Given the description of an element on the screen output the (x, y) to click on. 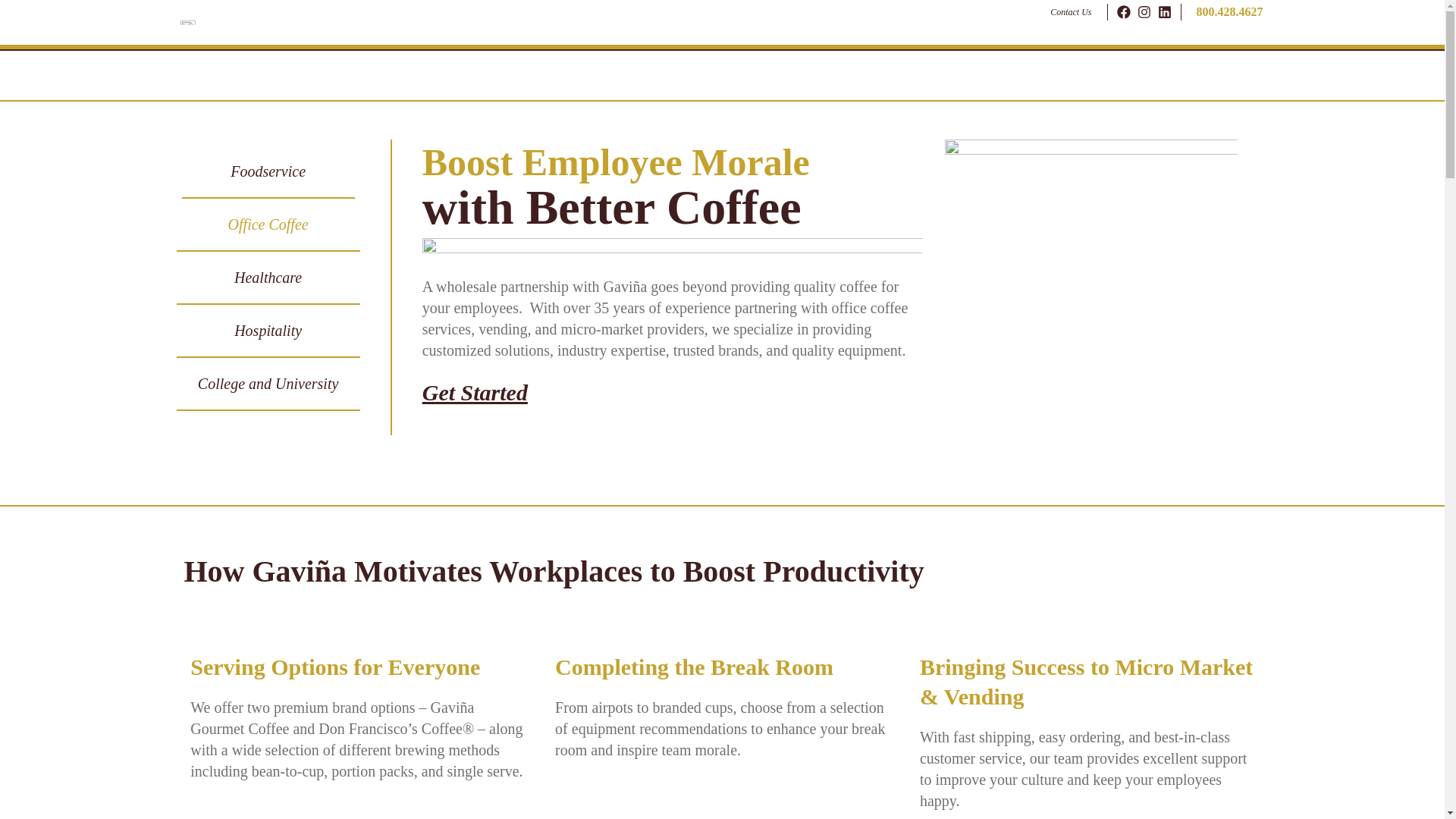
Instagram (1144, 12)
Linkedin (1164, 12)
Facebook (1123, 12)
Contact Us (1069, 10)
